Given the description of an element on the screen output the (x, y) to click on. 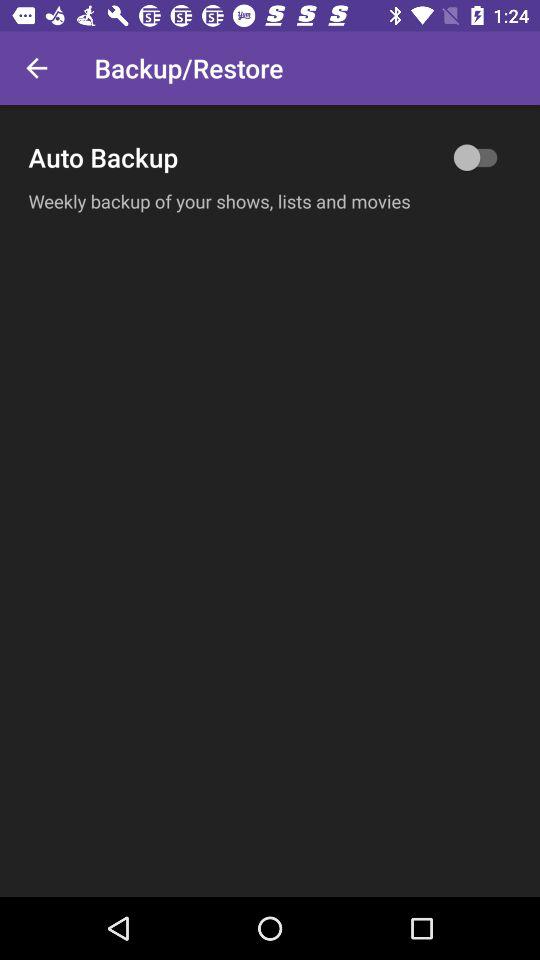
turn off item to the left of backup/restore icon (36, 68)
